Given the description of an element on the screen output the (x, y) to click on. 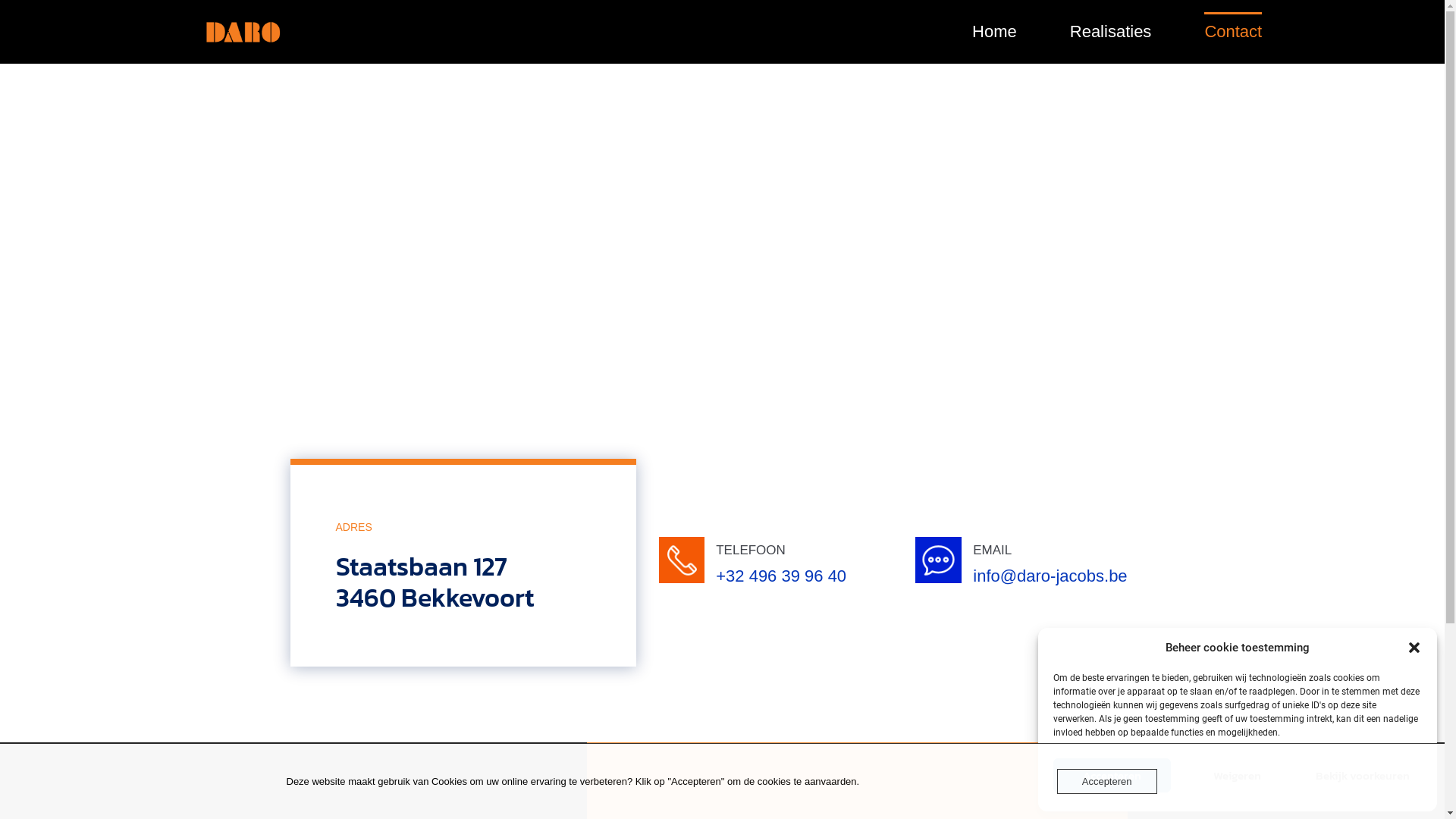
Bekijk voorkeuren Element type: text (1362, 775)
Weigeren Element type: text (1236, 775)
EMAIL Element type: text (991, 549)
Home Element type: text (994, 31)
Contact Element type: text (1232, 31)
Accepteren Element type: text (1107, 780)
Realisaties Element type: text (1110, 31)
TELEFOON Element type: text (750, 549)
Accepteren Element type: text (1111, 775)
Staatsbaan 127, Bekkevoort, Belgium Element type: hover (722, 297)
